Given the description of an element on the screen output the (x, y) to click on. 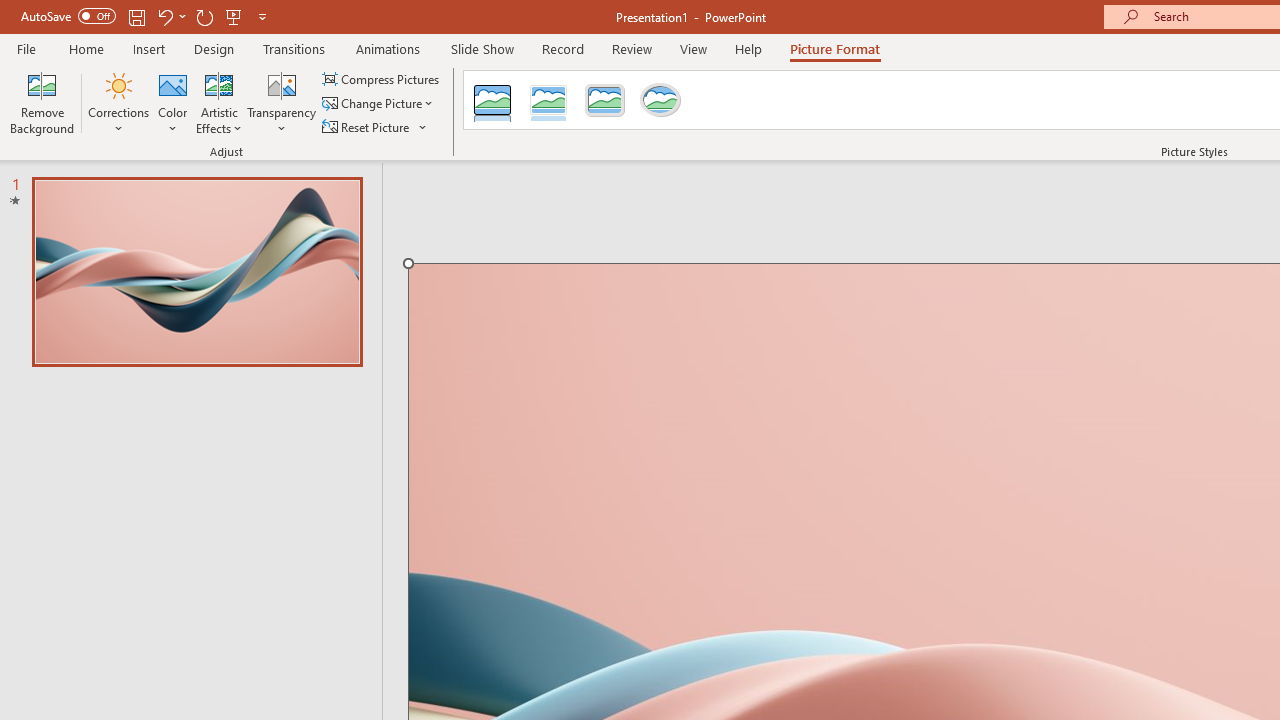
Change Picture (379, 103)
Corrections (118, 102)
Transparency (281, 102)
Picture Format (834, 48)
Metal Rounded Rectangle (605, 100)
